Given the description of an element on the screen output the (x, y) to click on. 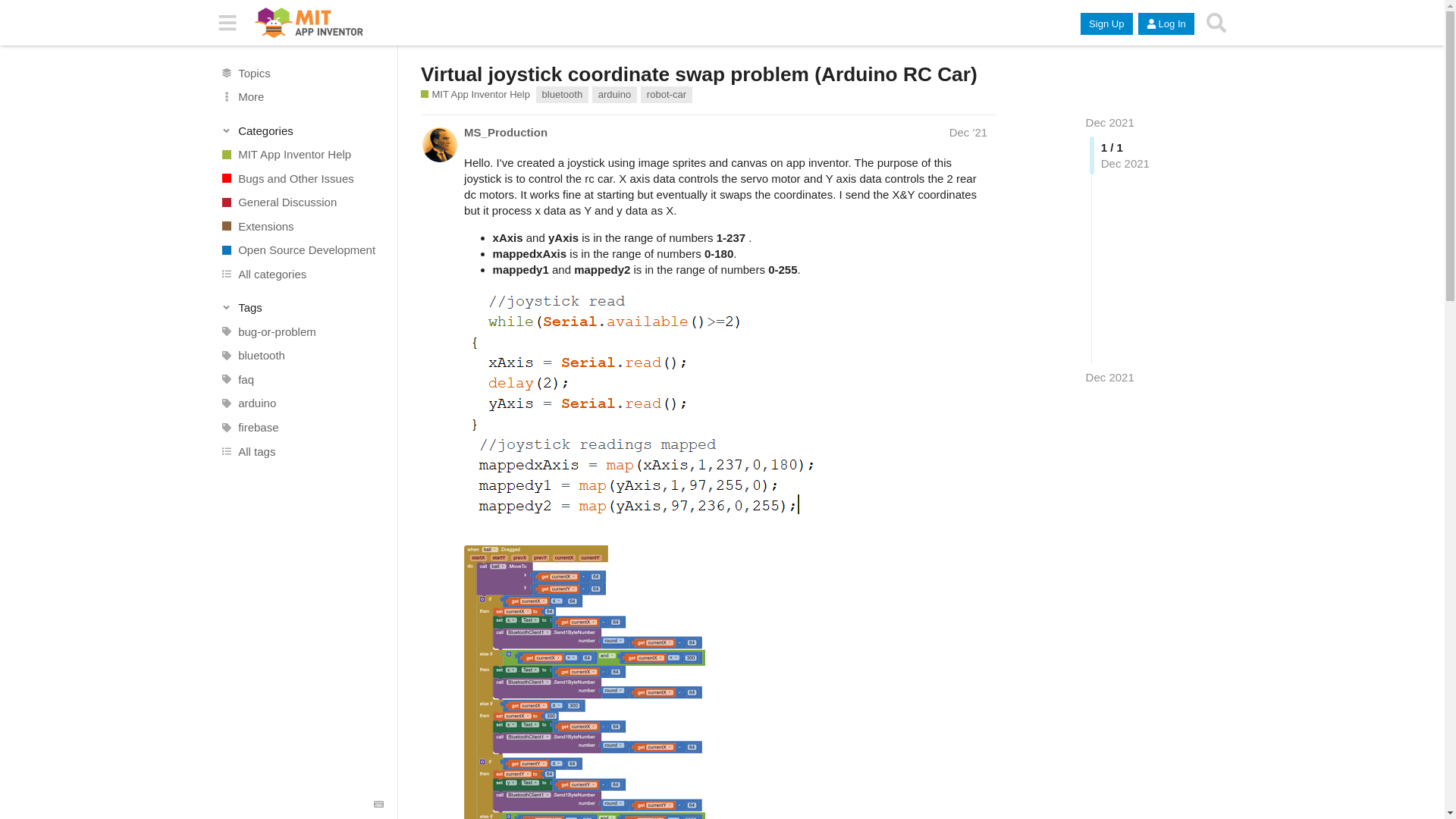
Dec 2021 (1110, 376)
faq (301, 379)
Dec '21 (968, 132)
bluetooth (301, 355)
Bugs and Other Issues (301, 178)
Dec 2021 (1110, 122)
General Discussion (301, 202)
Log In (1165, 24)
Search (1215, 22)
Open Source Development (301, 250)
Sign Up (1106, 24)
arduino (614, 94)
Sidebar (227, 22)
arduino (301, 403)
